Given the description of an element on the screen output the (x, y) to click on. 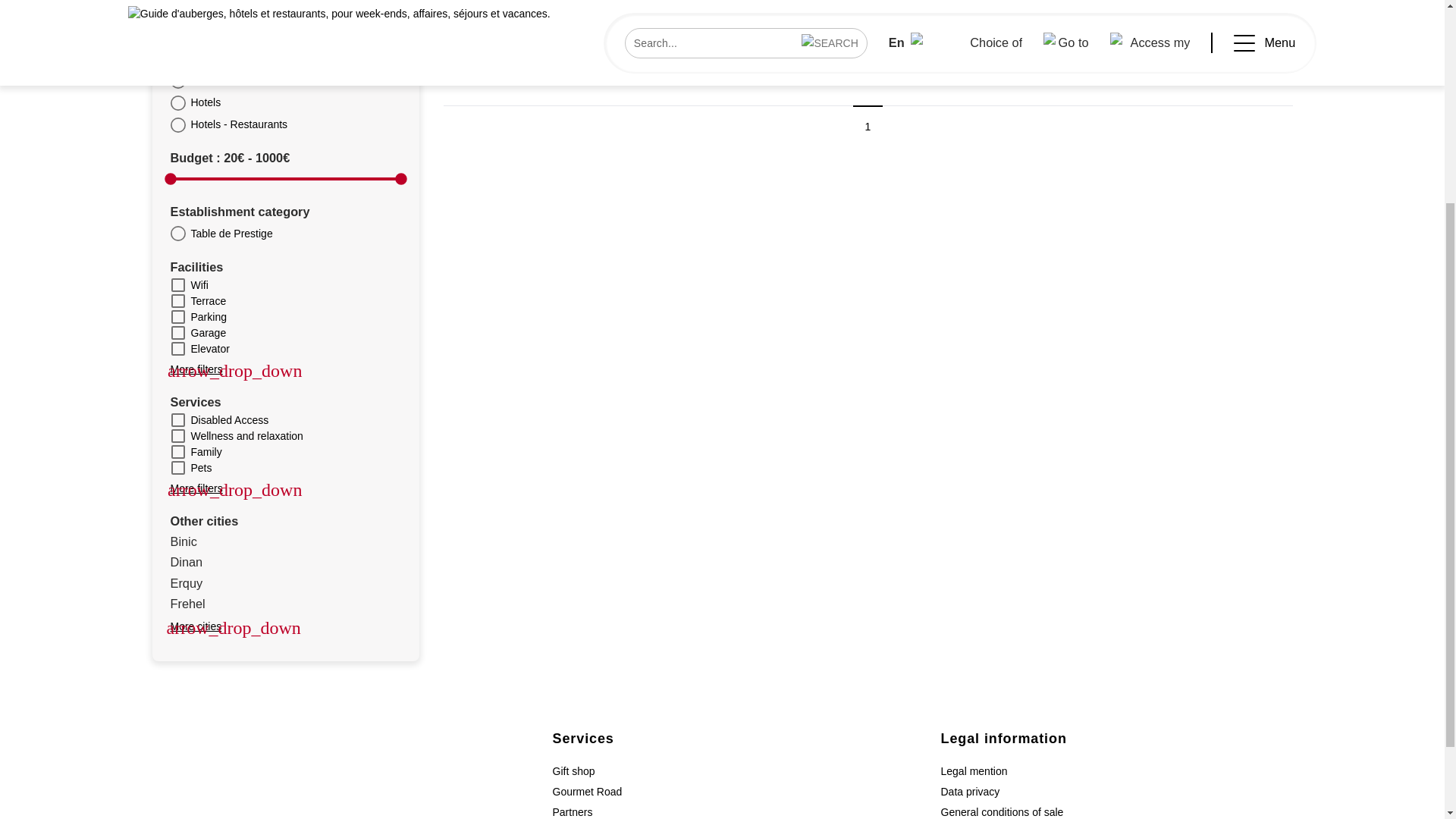
search (382, 1)
Dinan (285, 562)
Erquy (285, 582)
Binic (285, 541)
Frehel (285, 603)
